Given the description of an element on the screen output the (x, y) to click on. 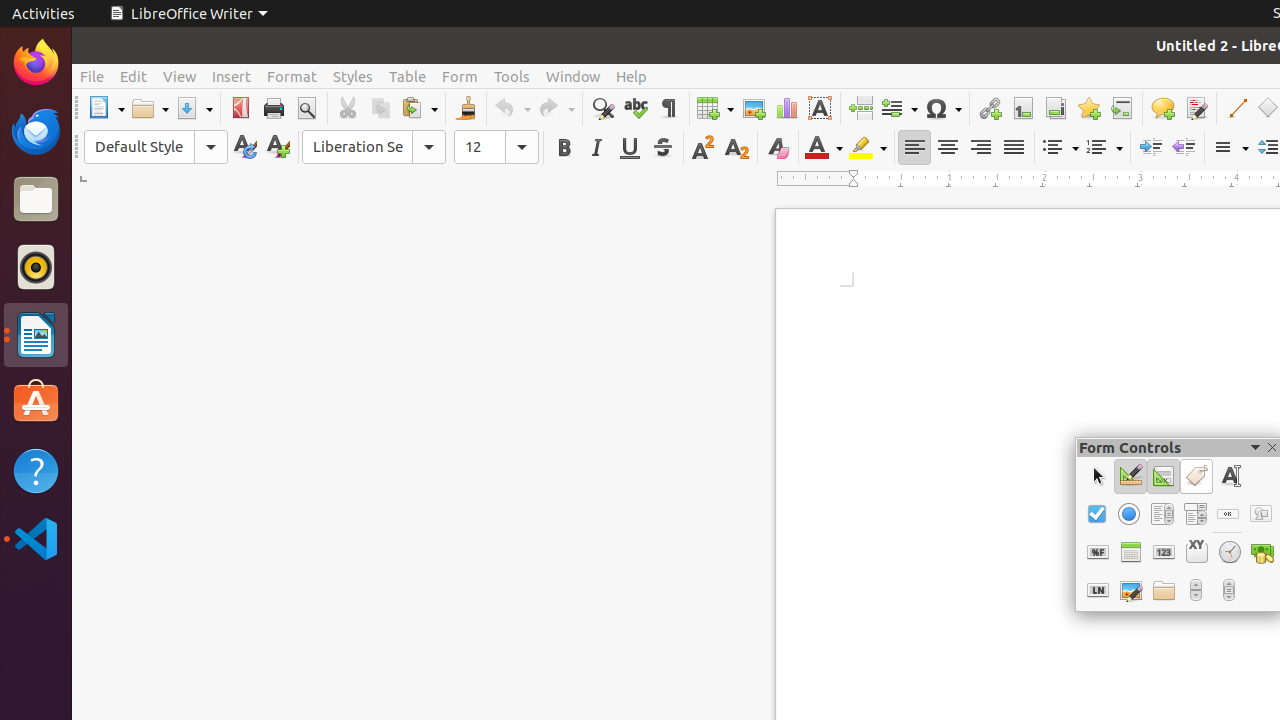
Numerical Field Element type: toggle-button (1163, 552)
List Box Element type: toggle-button (1161, 514)
Form Design Element type: toggle-button (1163, 476)
Rhythmbox Element type: push-button (36, 267)
Combo Box Element type: push-button (1194, 514)
